Given the description of an element on the screen output the (x, y) to click on. 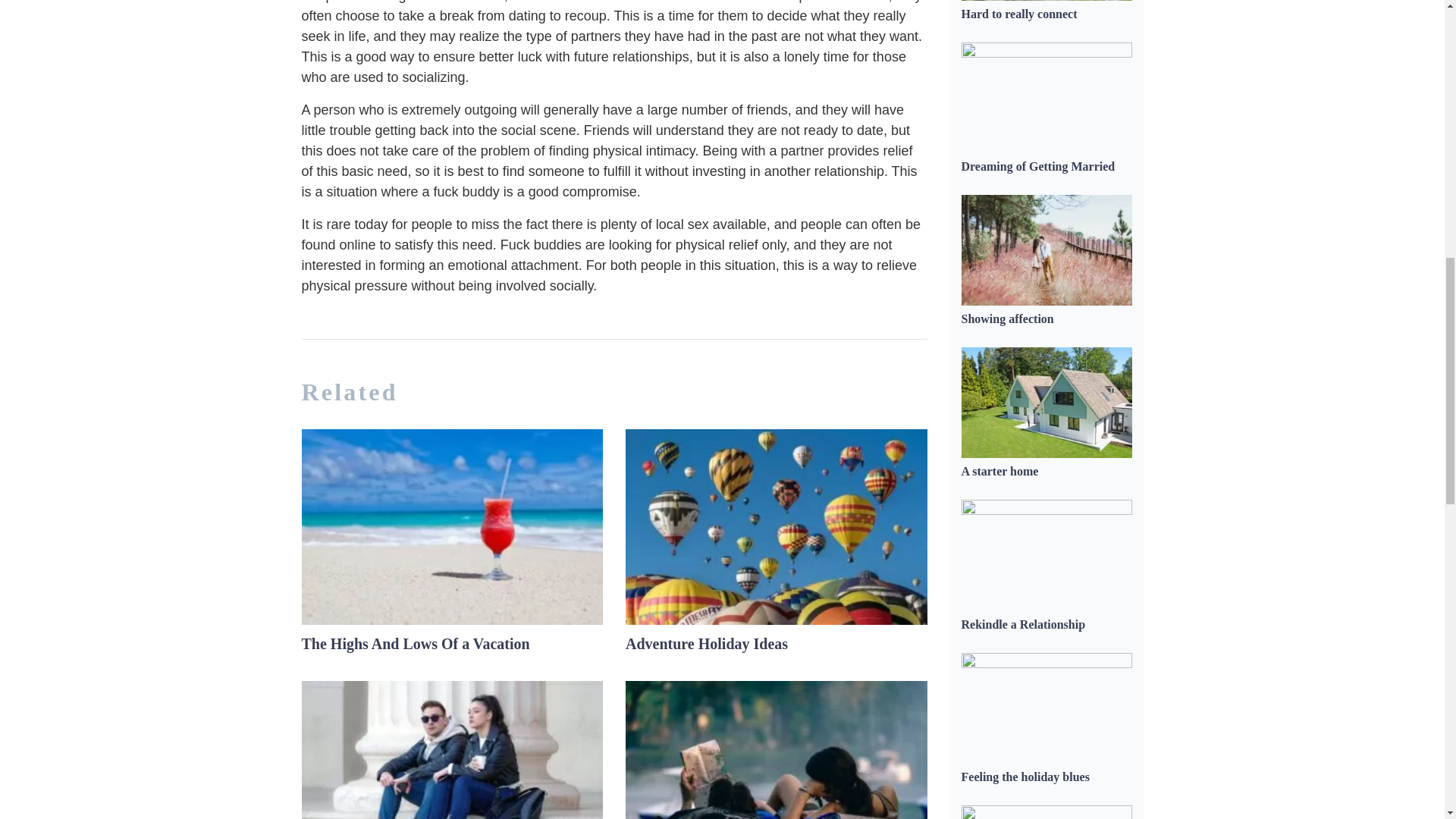
Showing affection (1007, 318)
Dreaming of Getting Married (1037, 165)
Adventure Holiday Ideas (706, 643)
Hard to really connect (1018, 13)
The Highs And Lows Of a Vacation (415, 643)
